Given the description of an element on the screen output the (x, y) to click on. 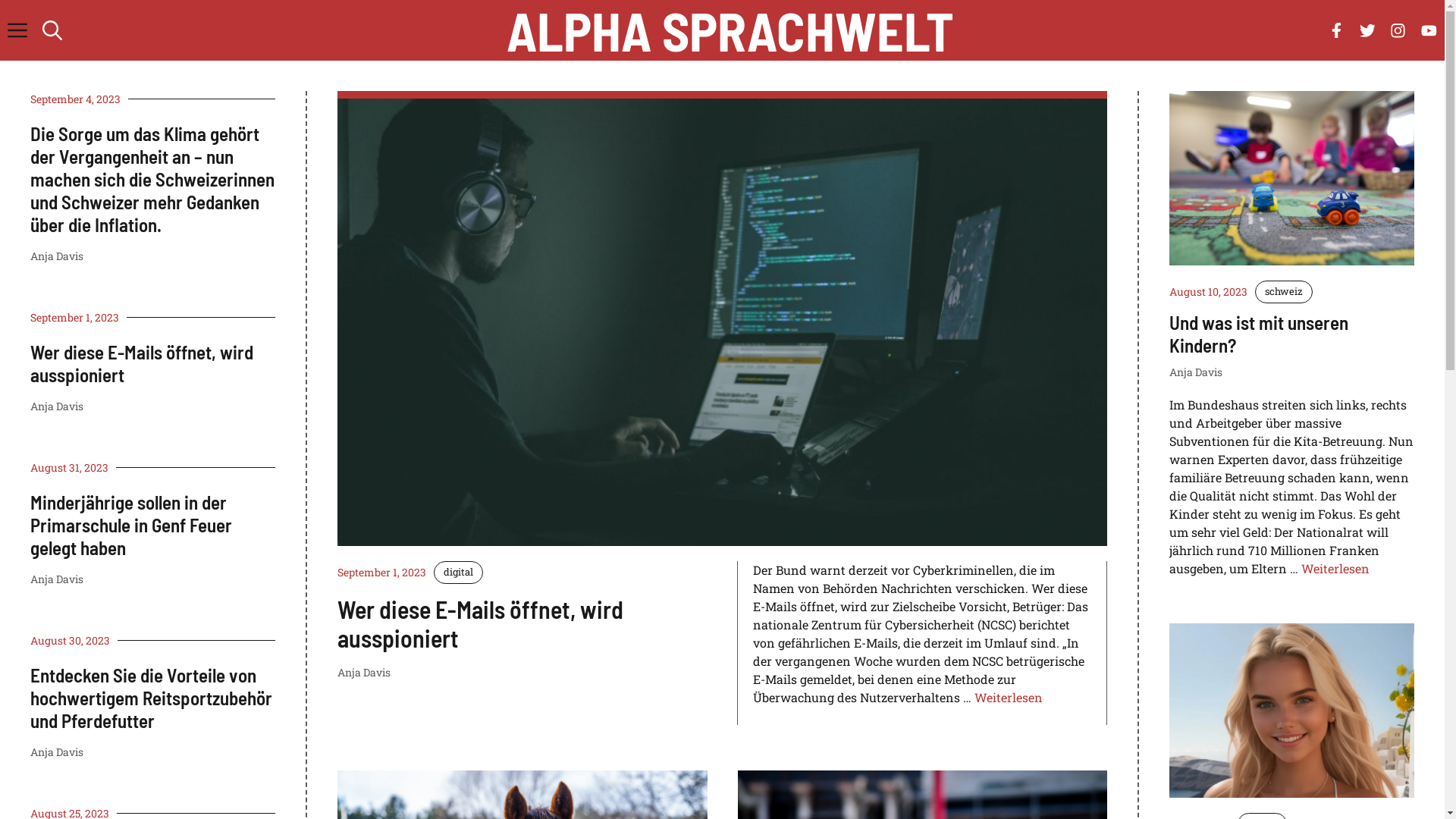
Anja Davis Element type: text (363, 672)
Weiterlesen Element type: text (1008, 697)
Anja Davis Element type: text (56, 255)
Und was ist mit unseren Kindern? Element type: text (1258, 333)
schweiz Element type: text (1283, 291)
Anja Davis Element type: text (56, 405)
Anja Davis Element type: text (56, 751)
ALPHA SPRACHWELT Element type: text (729, 30)
digital Element type: text (458, 572)
Anja Davis Element type: text (1195, 371)
Weiterlesen Element type: text (1335, 567)
Anja Davis Element type: text (56, 578)
